Given the description of an element on the screen output the (x, y) to click on. 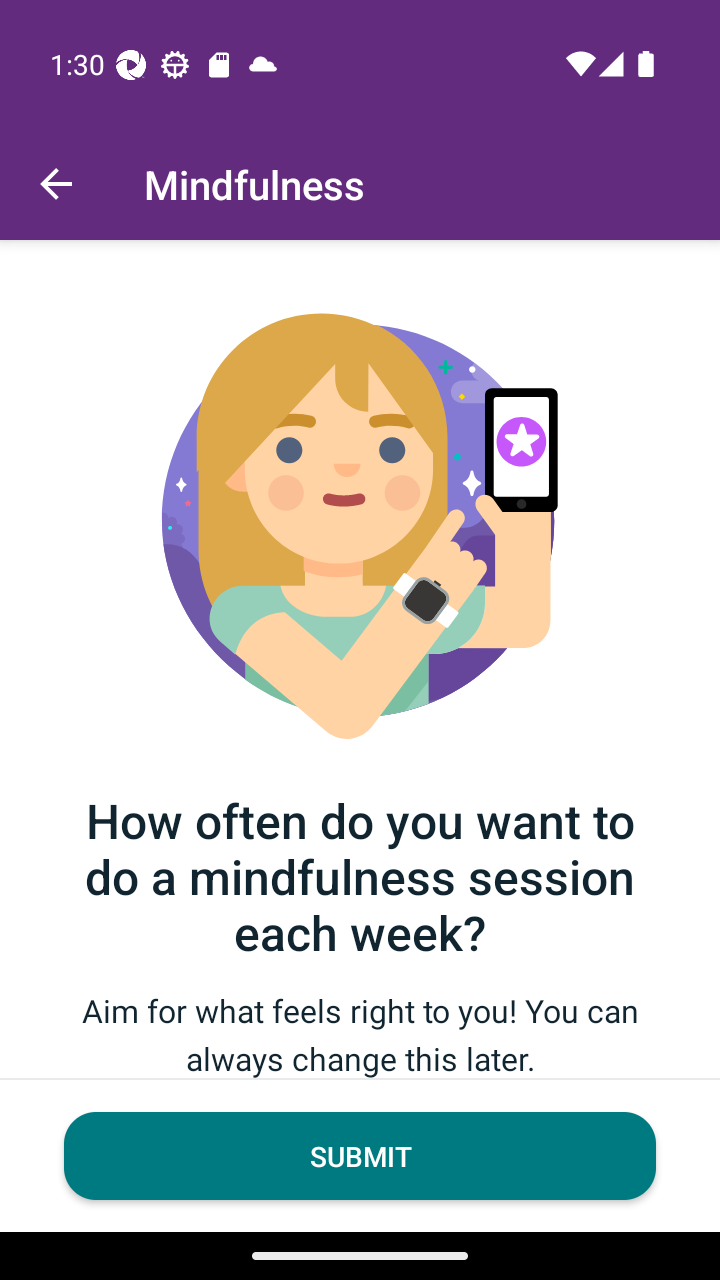
Navigate up (56, 184)
SUBMIT (359, 1156)
